Given the description of an element on the screen output the (x, y) to click on. 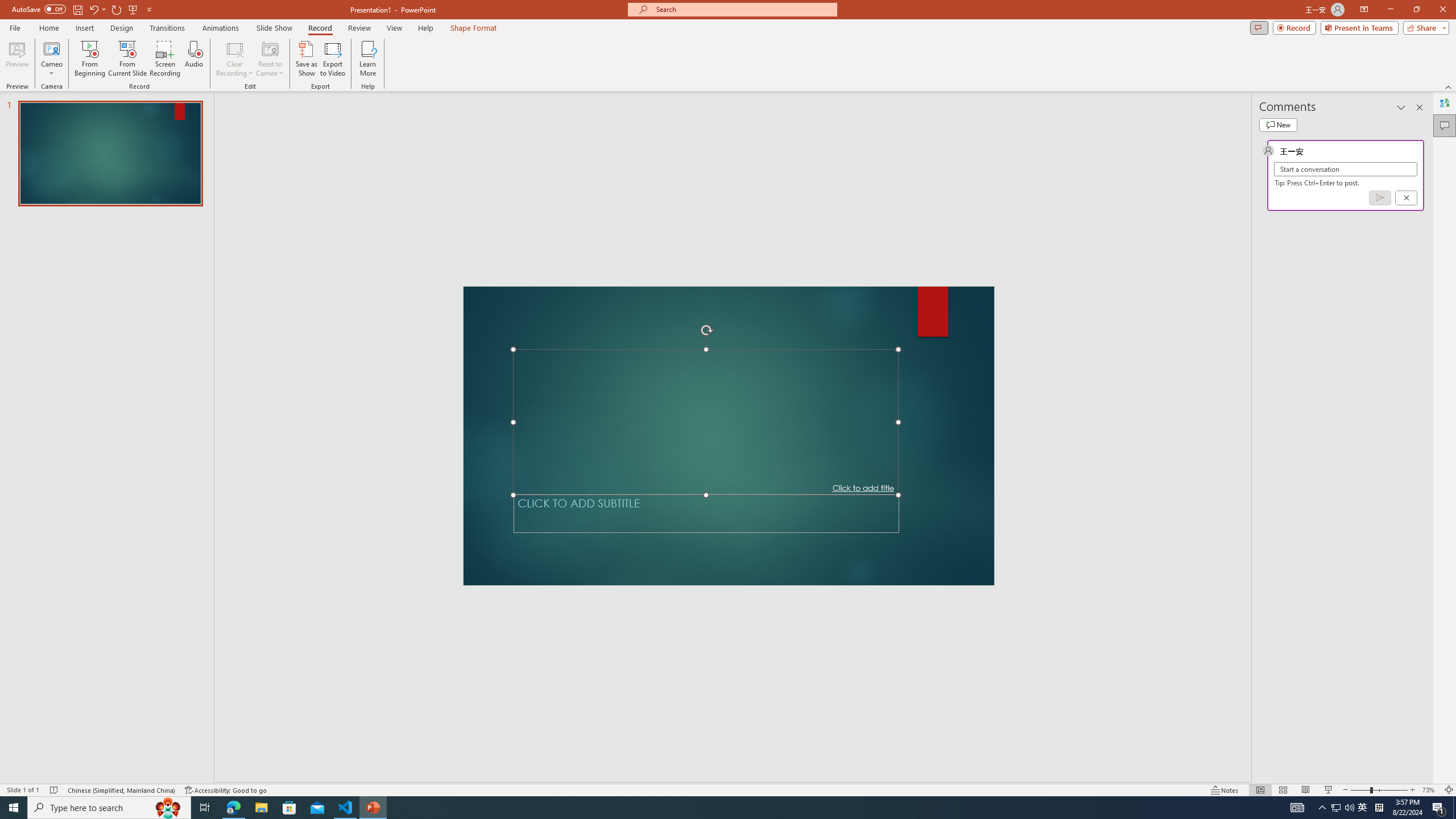
Zoom In (1413, 773)
Web Layout (1287, 773)
Restore Down (1394, 18)
Zoom (1363, 773)
Minimize (1353, 18)
Macros (953, 92)
Zoom... (429, 92)
Customize Quick Access Toolbar (218, 18)
New Tab (517, 47)
RichEdit Control (683, 411)
Arrange All (655, 92)
